Given the description of an element on the screen output the (x, y) to click on. 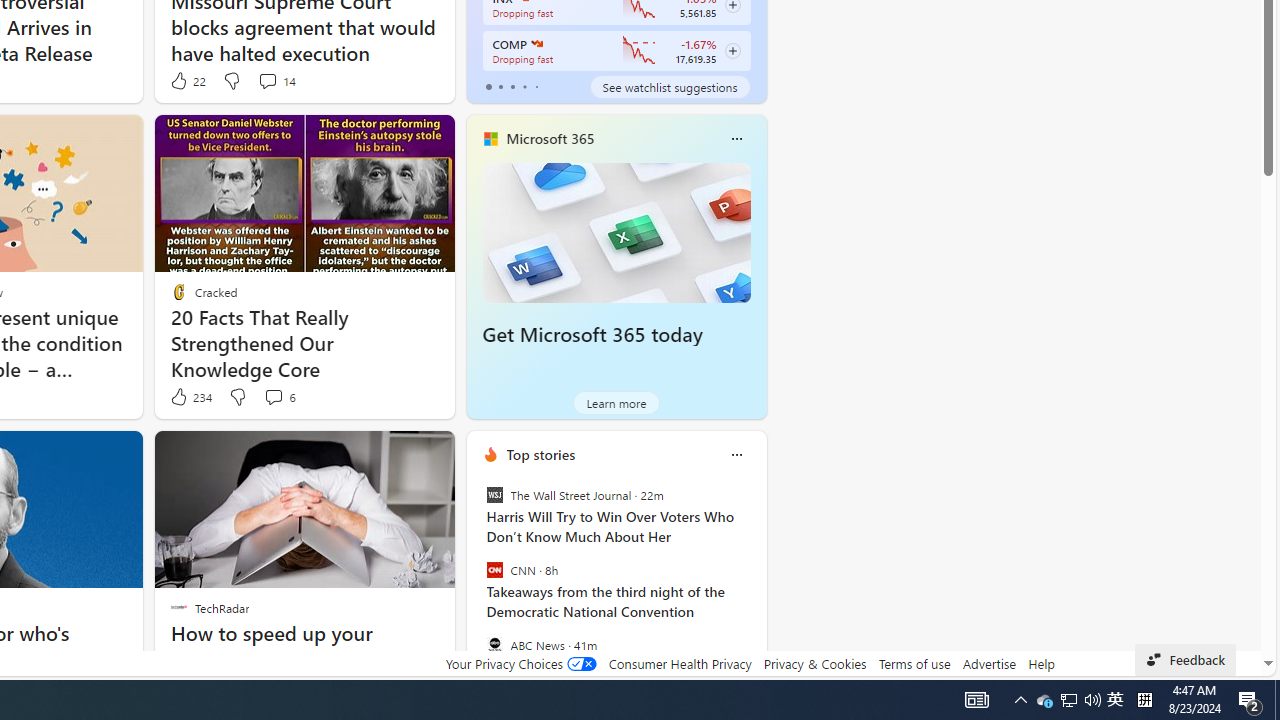
234 Like (190, 397)
tab-3 (524, 86)
View comments 14 Comment (267, 80)
Your Privacy Choices (520, 663)
next (756, 583)
CNN (494, 570)
Hide this story (201, 454)
tab-4 (535, 86)
The Wall Street Journal (494, 494)
